Given the description of an element on the screen output the (x, y) to click on. 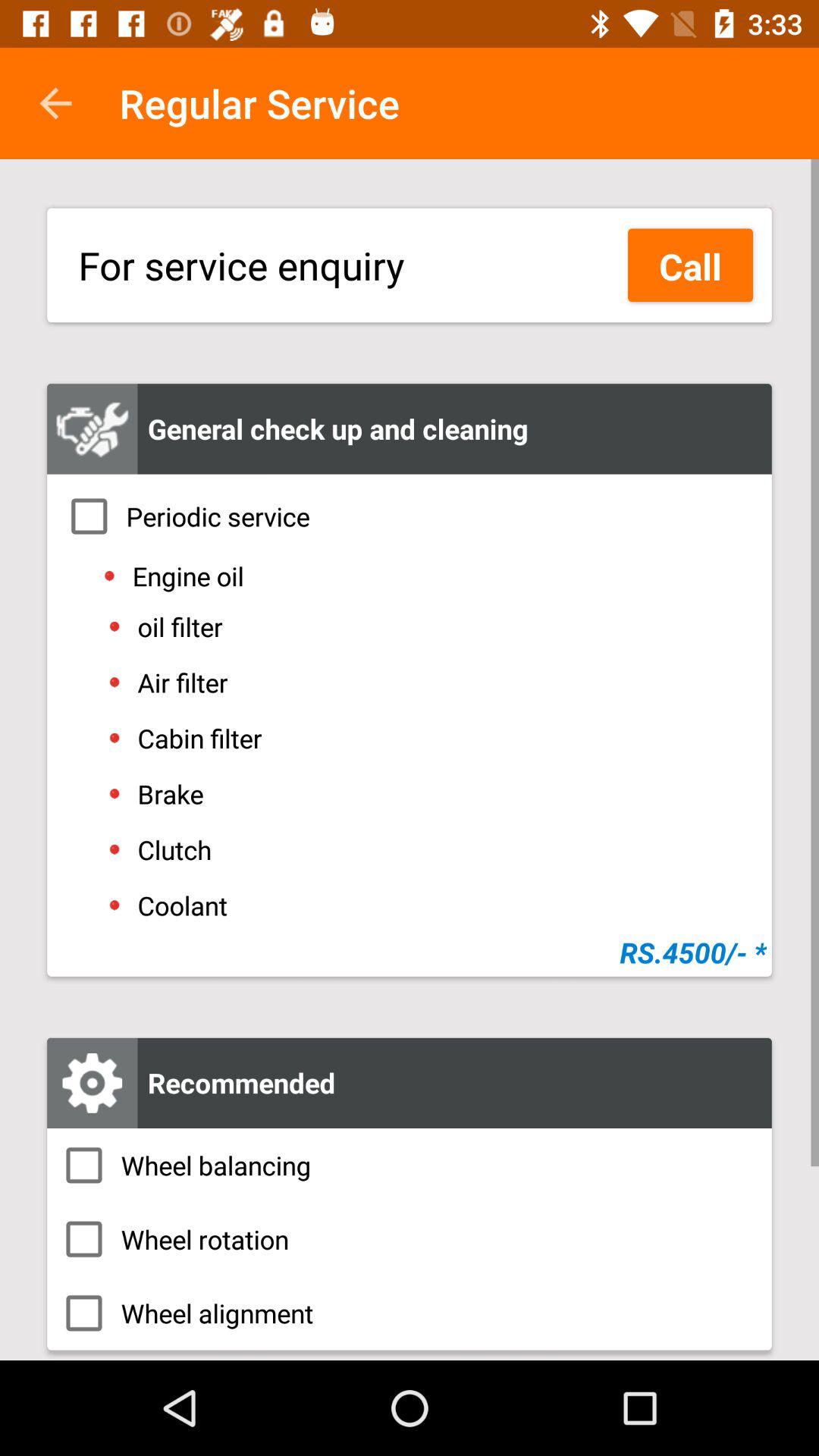
flip until wheel alignment icon (409, 1313)
